Given the description of an element on the screen output the (x, y) to click on. 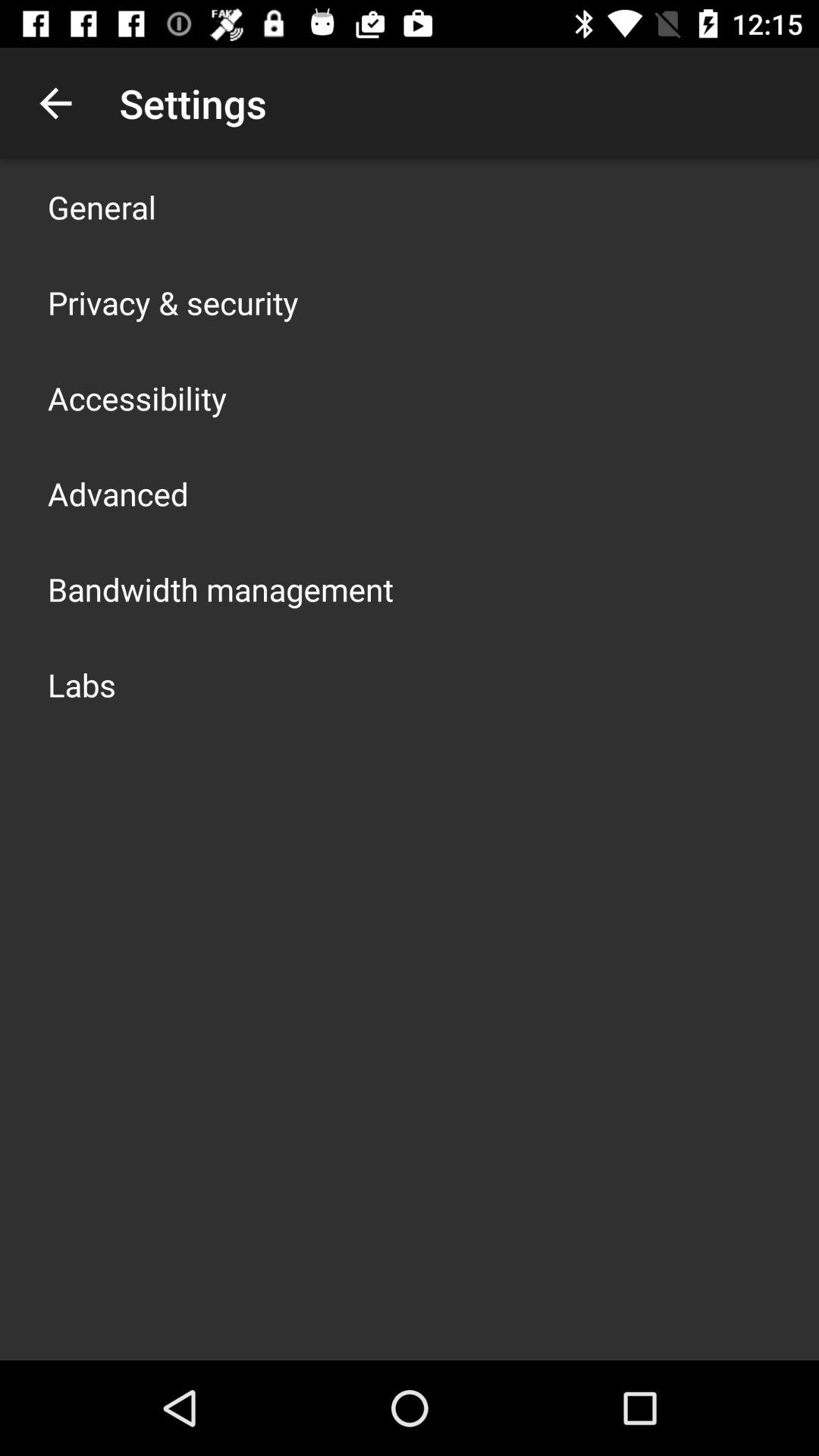
open the app to the left of settings icon (55, 103)
